Given the description of an element on the screen output the (x, y) to click on. 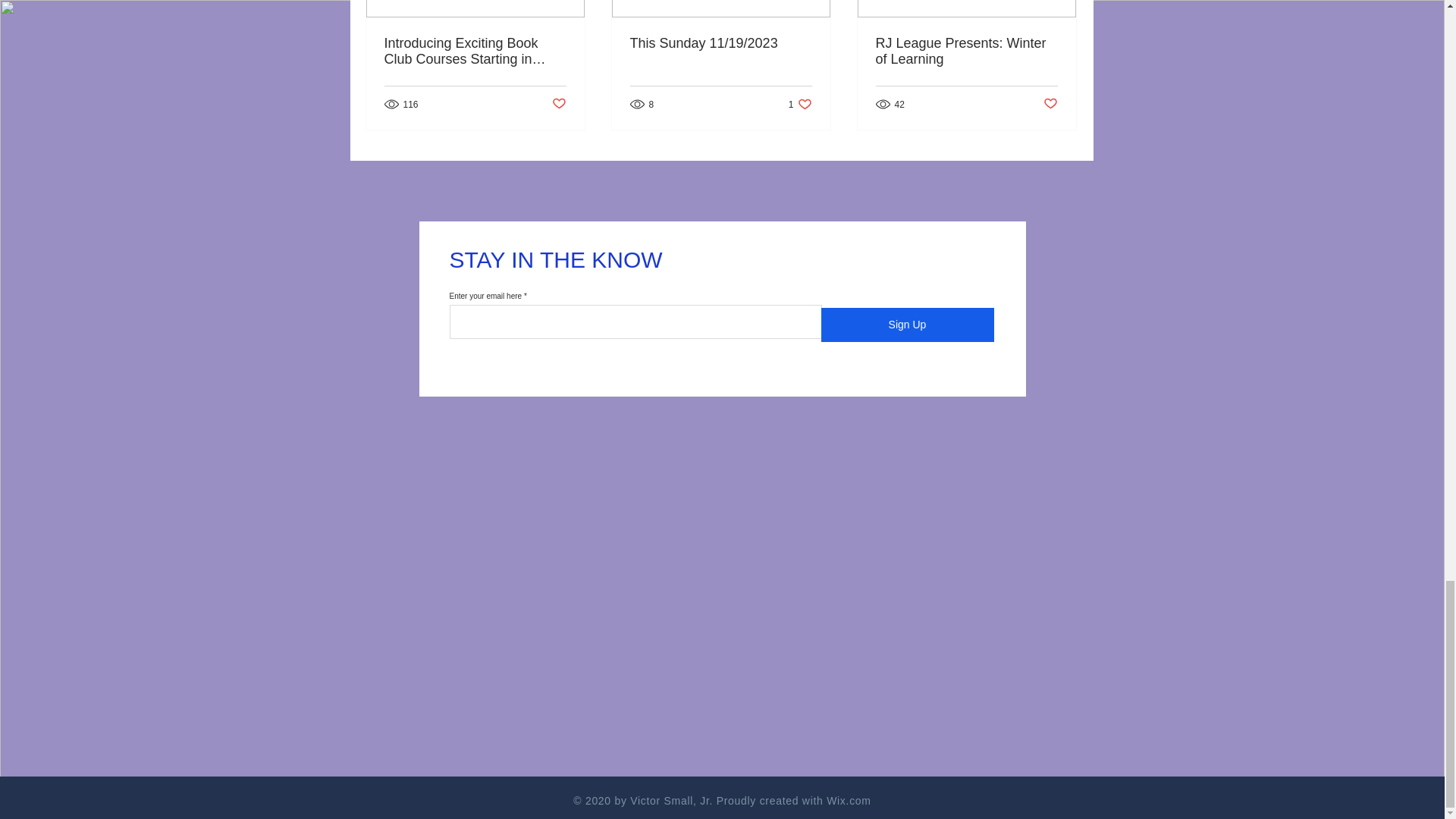
RJ League Presents: Winter of Learning (800, 104)
Introducing Exciting Book Club Courses Starting in March! (966, 51)
Sign Up (475, 51)
Post not marked as liked (906, 324)
Post not marked as liked (558, 104)
